Given the description of an element on the screen output the (x, y) to click on. 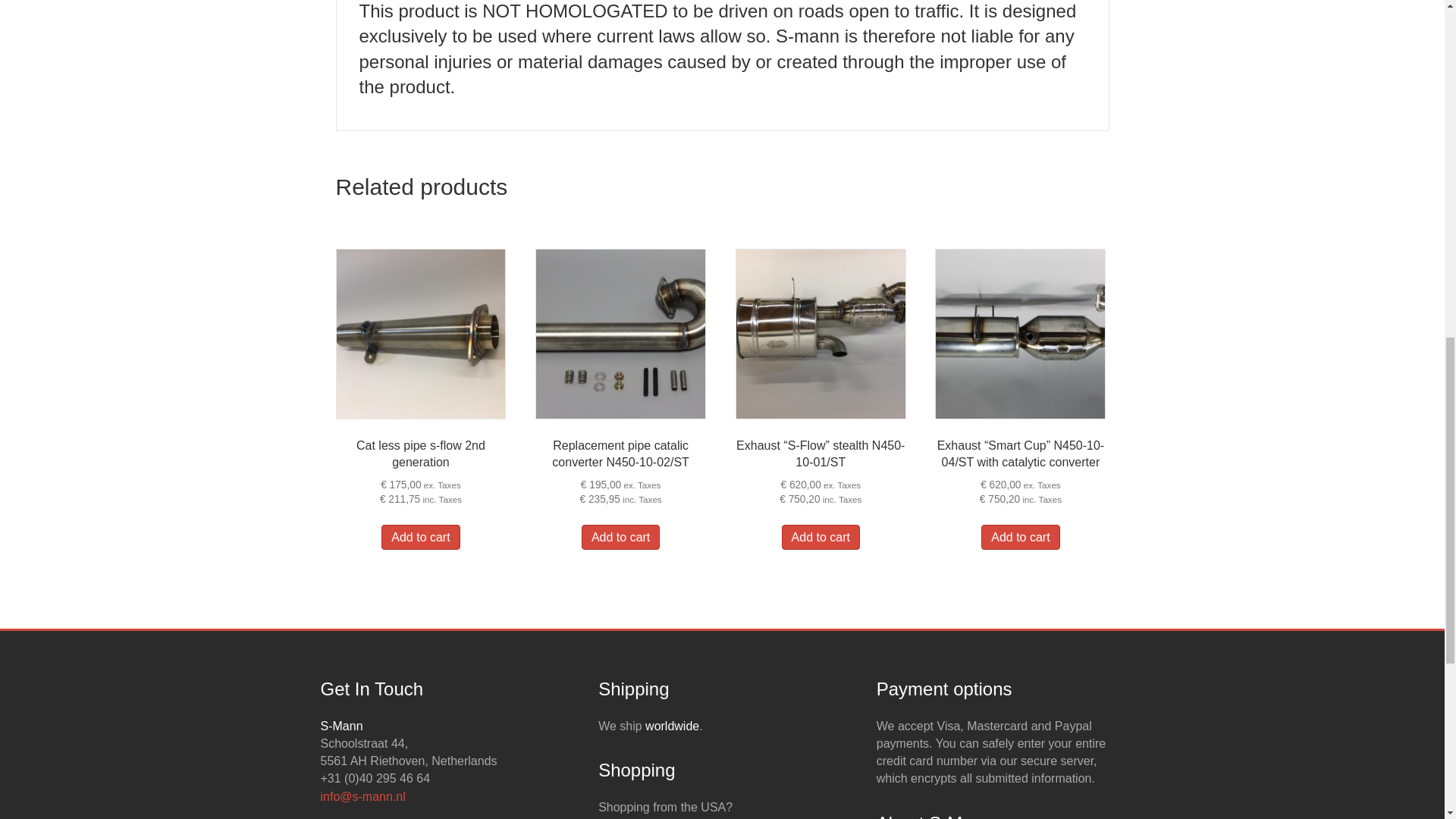
Add to cart (1020, 536)
Add to cart (619, 536)
Add to cart (420, 536)
Add to cart (820, 536)
